Given the description of an element on the screen output the (x, y) to click on. 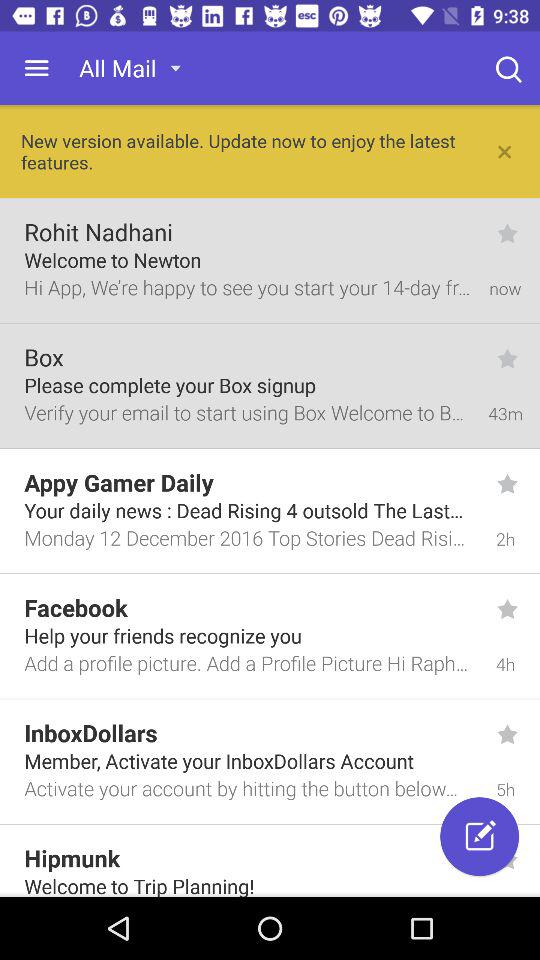
go to close (505, 151)
